Given the description of an element on the screen output the (x, y) to click on. 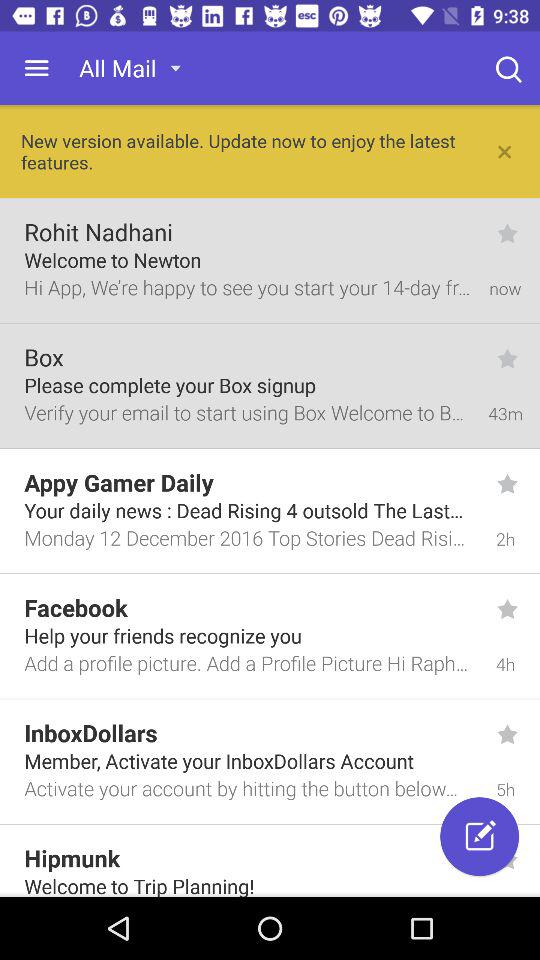
go to close (505, 151)
